Given the description of an element on the screen output the (x, y) to click on. 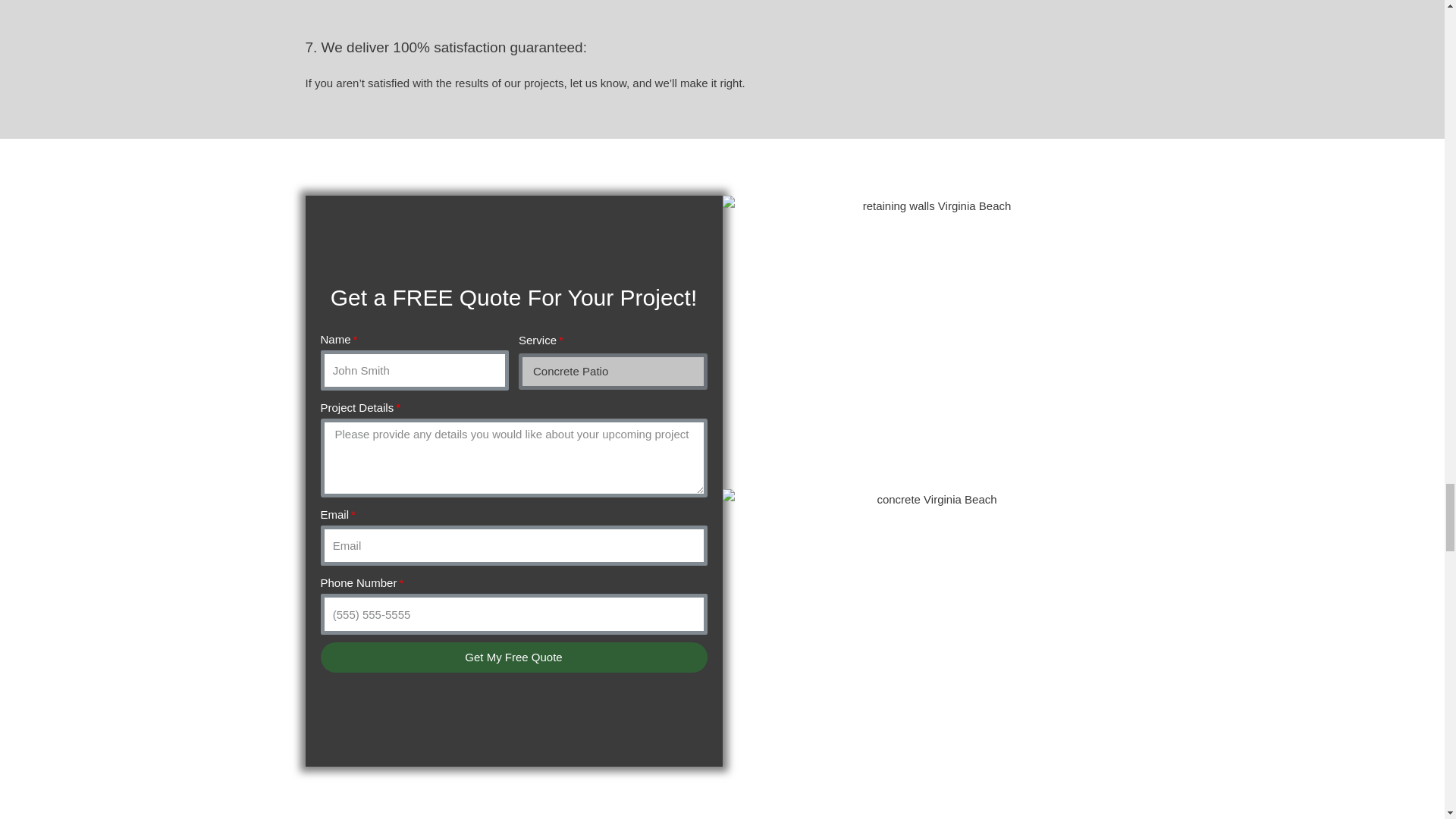
Get My Free Quote (513, 657)
